Given the description of an element on the screen output the (x, y) to click on. 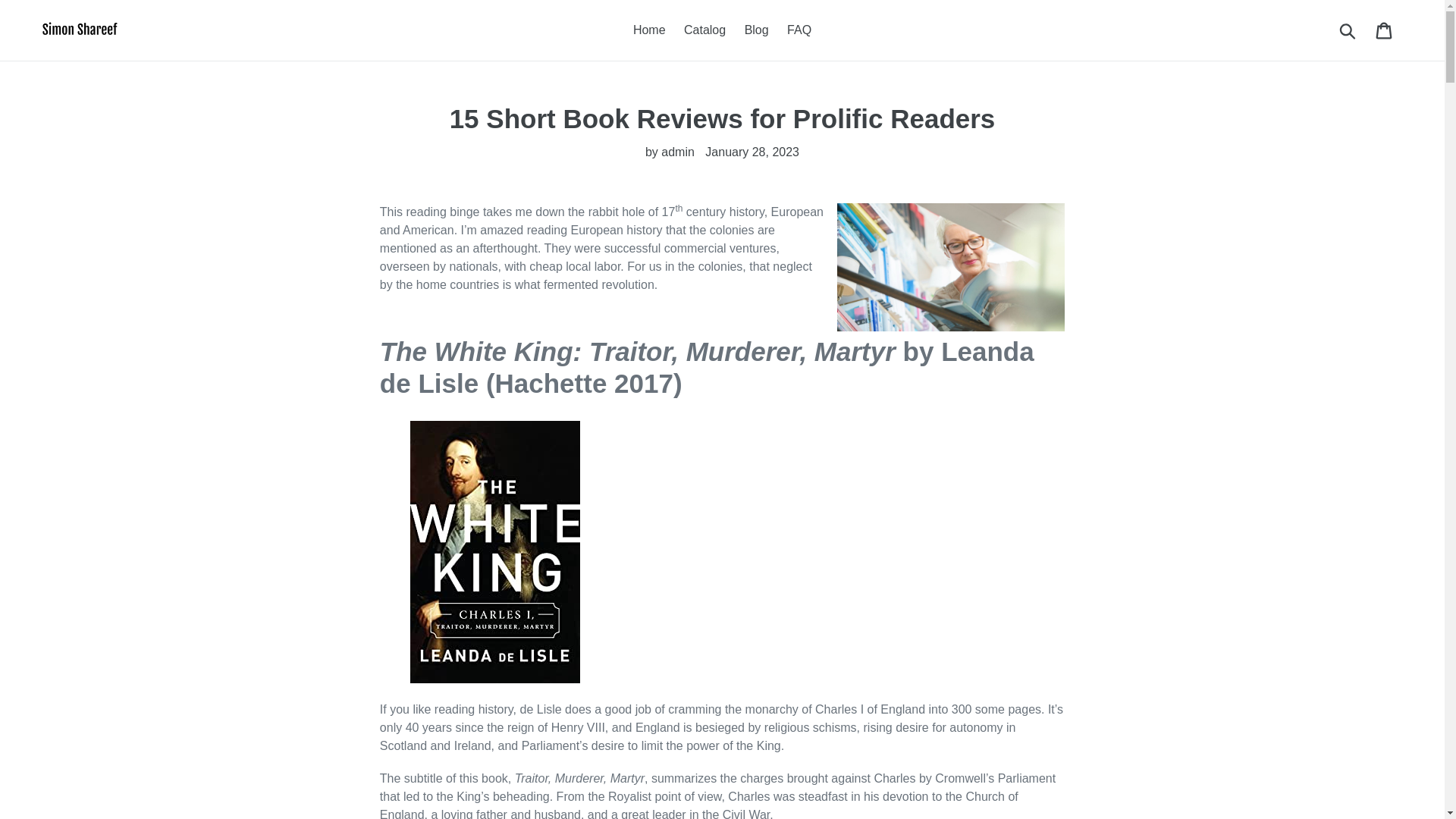
Submit (1348, 29)
FAQ (798, 29)
Home (649, 29)
Blog (756, 29)
Cart (1385, 29)
Catalog (705, 29)
